Given the description of an element on the screen output the (x, y) to click on. 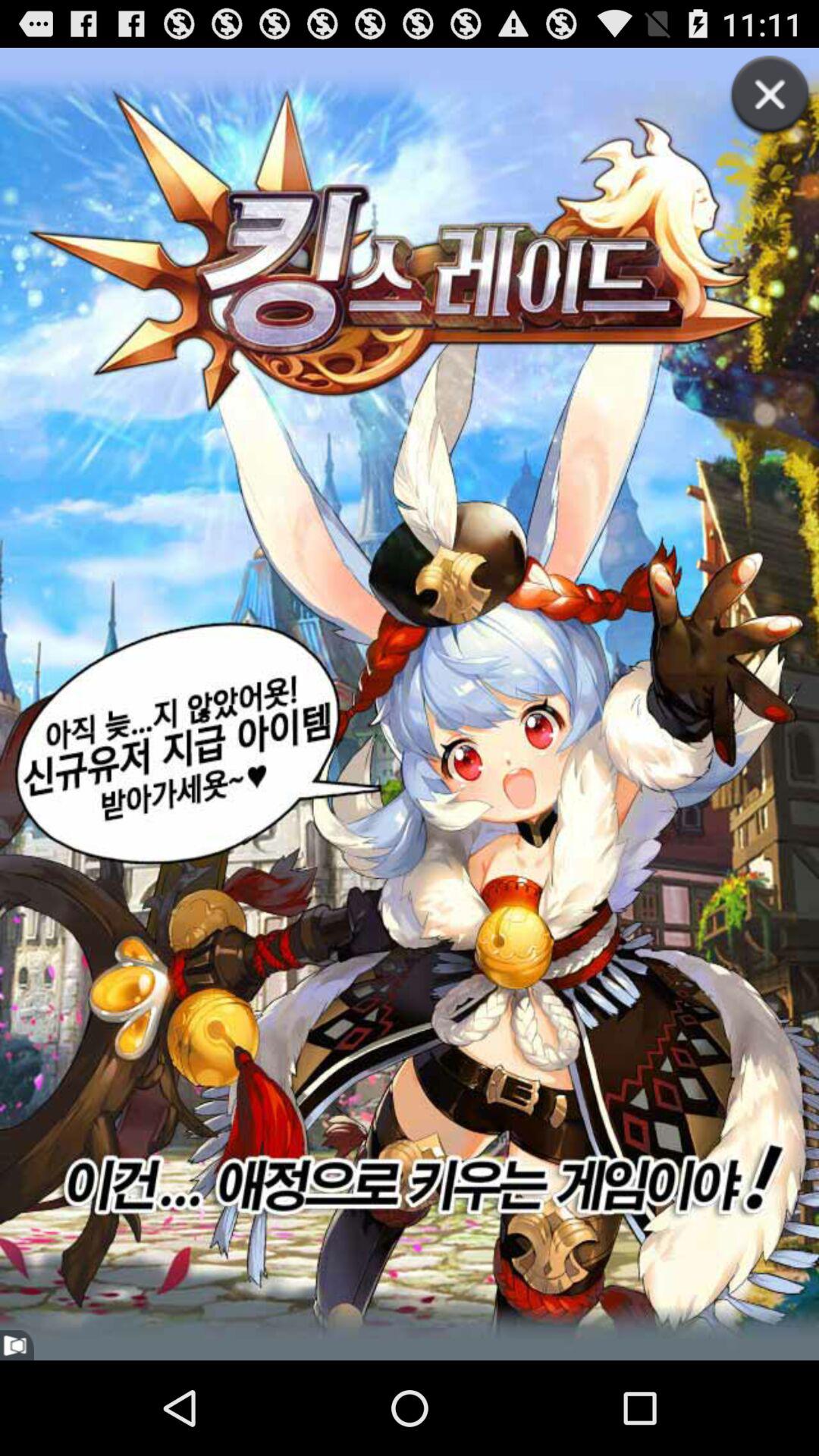
open item at the bottom left corner (17, 1345)
